Given the description of an element on the screen output the (x, y) to click on. 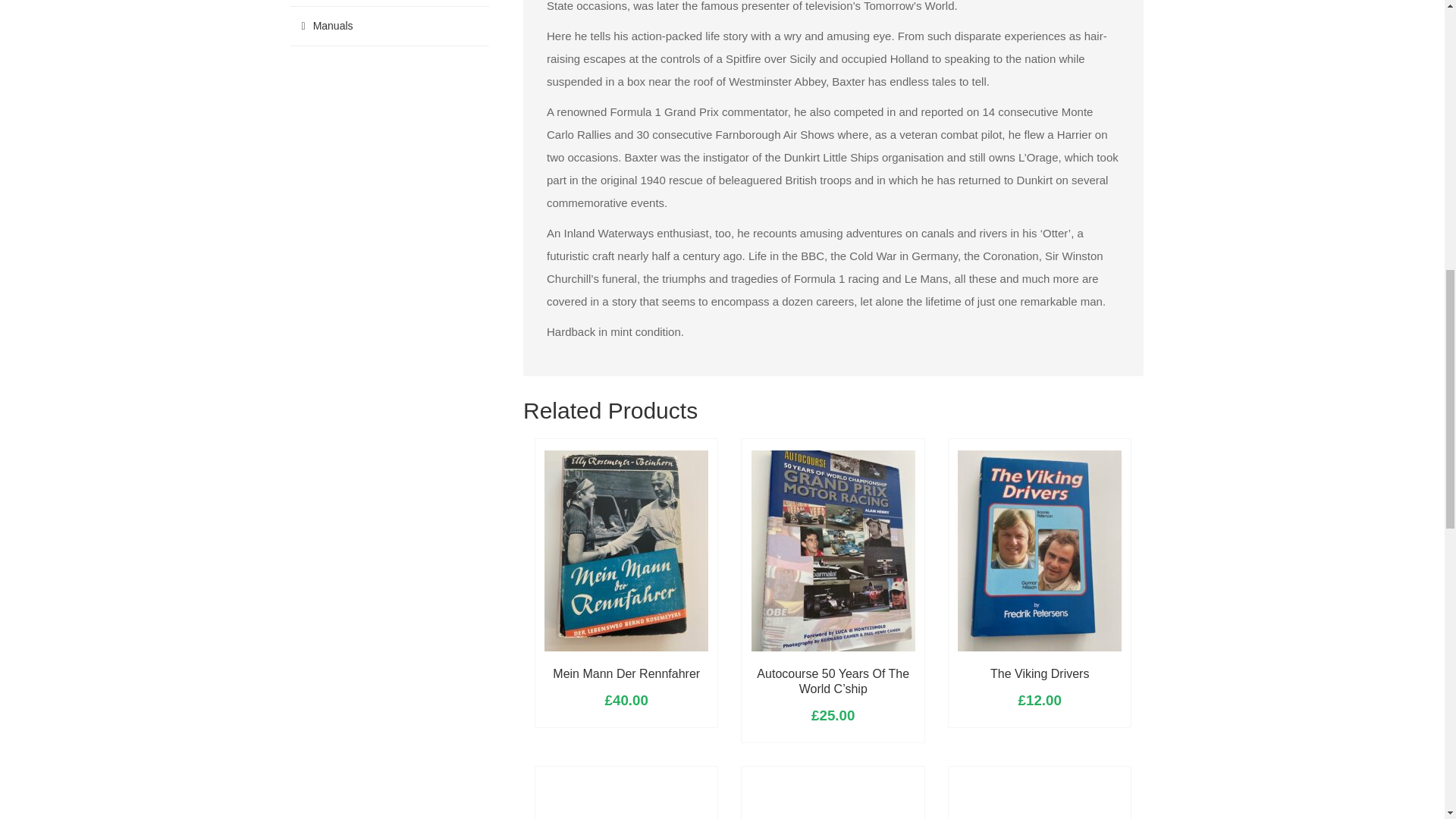
Back to Top (1406, 30)
